Given the description of an element on the screen output the (x, y) to click on. 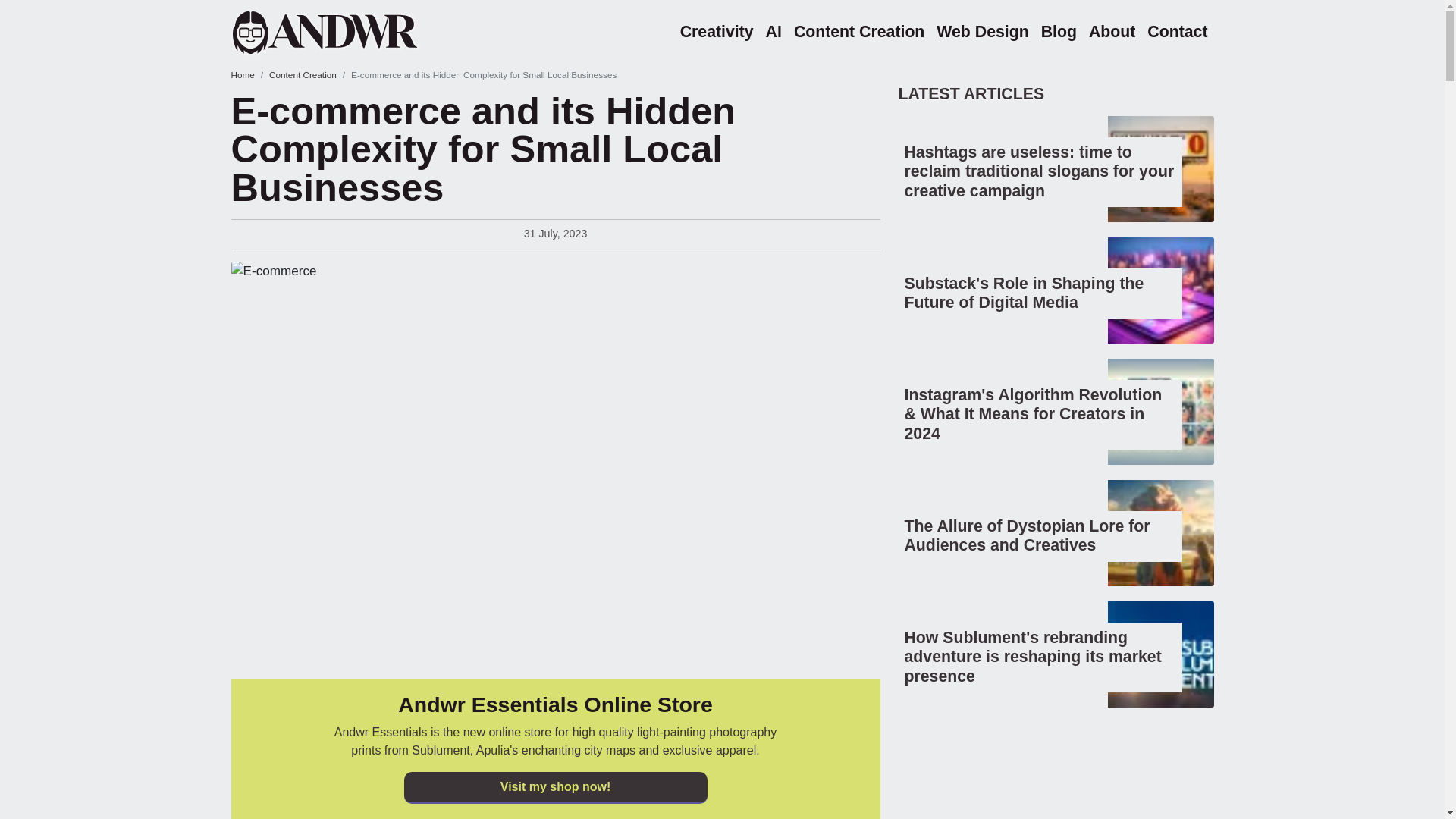
andwr (344, 31)
Content Creation (858, 32)
Creativity (717, 32)
Visit my shop now! (554, 787)
Contact (1176, 32)
About (1112, 32)
Home (241, 74)
Content Creation (302, 74)
Blog (1059, 32)
Web Design (981, 32)
